Given the description of an element on the screen output the (x, y) to click on. 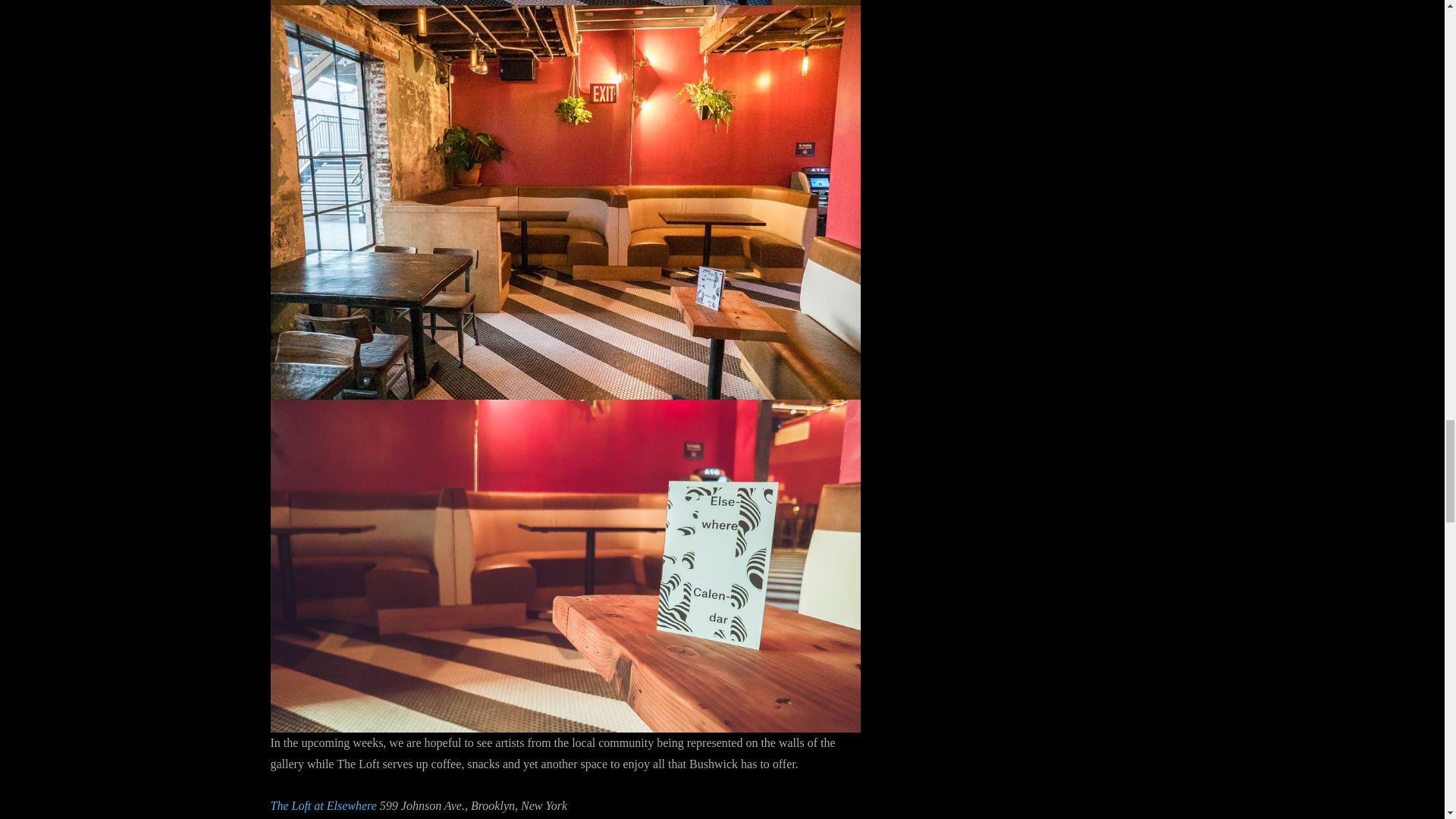
The Loft at Elsewhere (322, 805)
